Given the description of an element on the screen output the (x, y) to click on. 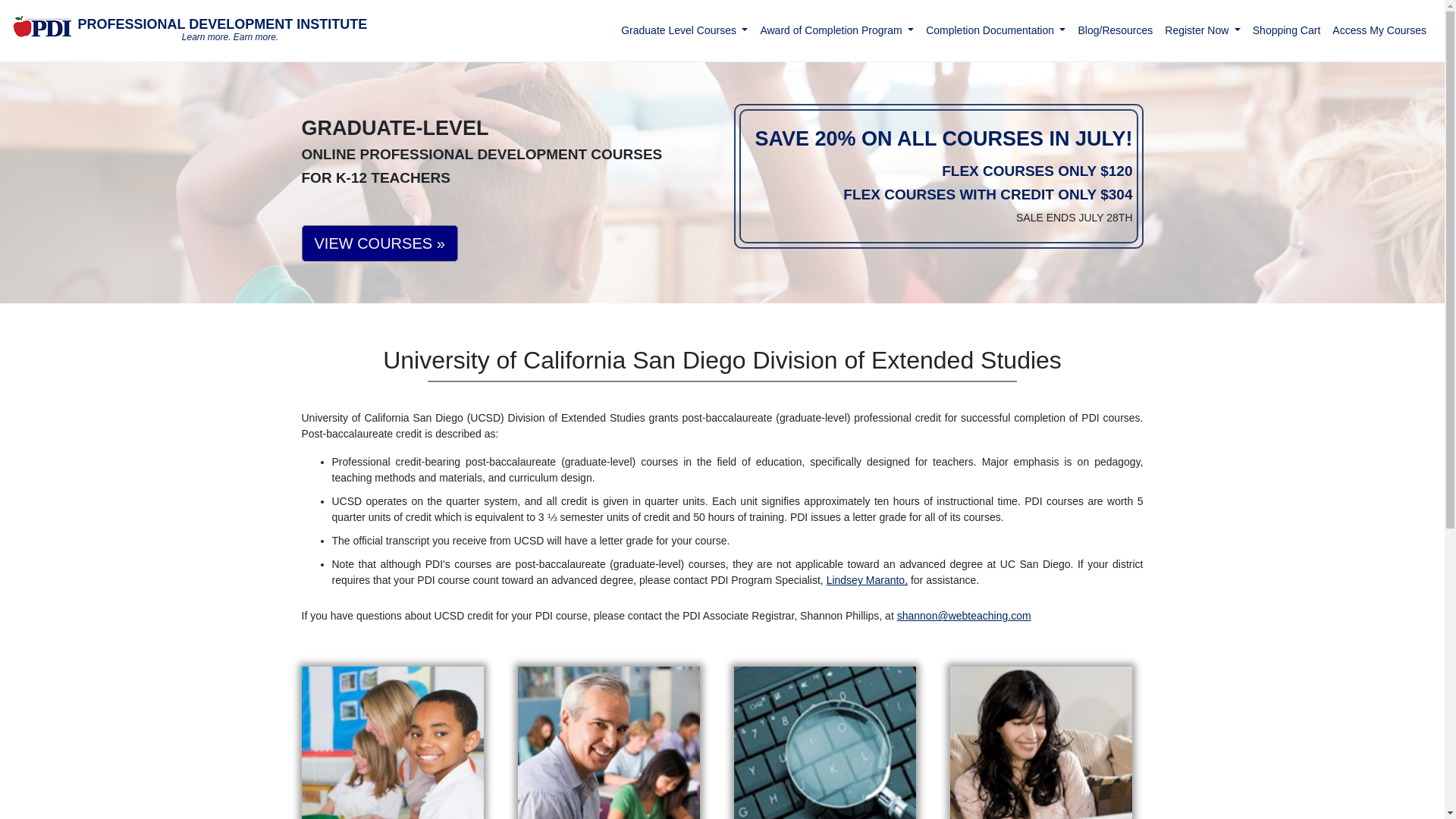
Lindsey Maranto, (867, 580)
Register Now (1202, 30)
Access My Courses (1379, 30)
Shopping Cart (1286, 30)
Completion Documentation (995, 30)
Graduate Level Courses (188, 30)
Award of Completion Program (684, 30)
